Given the description of an element on the screen output the (x, y) to click on. 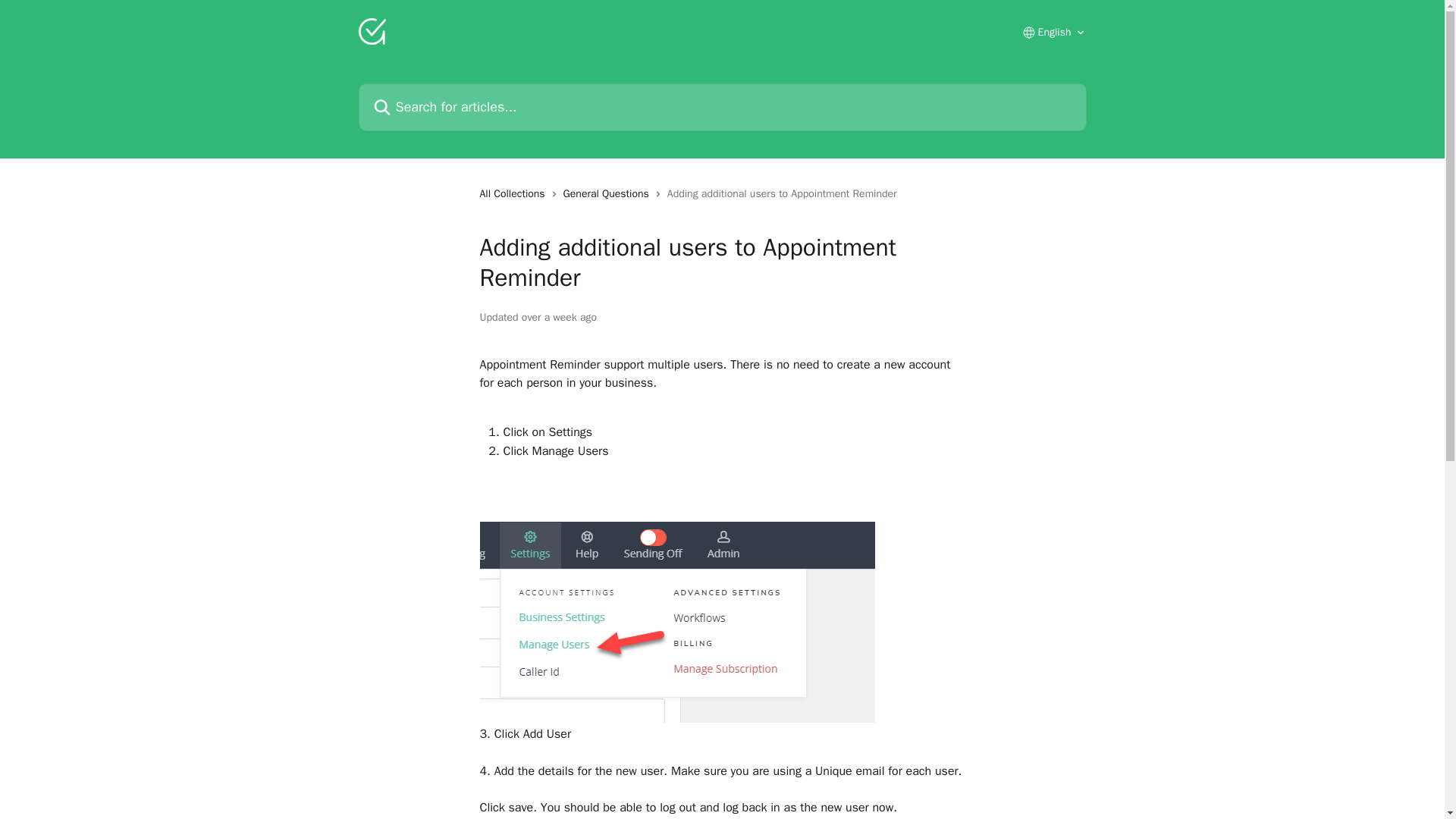
General Questions (609, 193)
All Collections (514, 193)
